Given the description of an element on the screen output the (x, y) to click on. 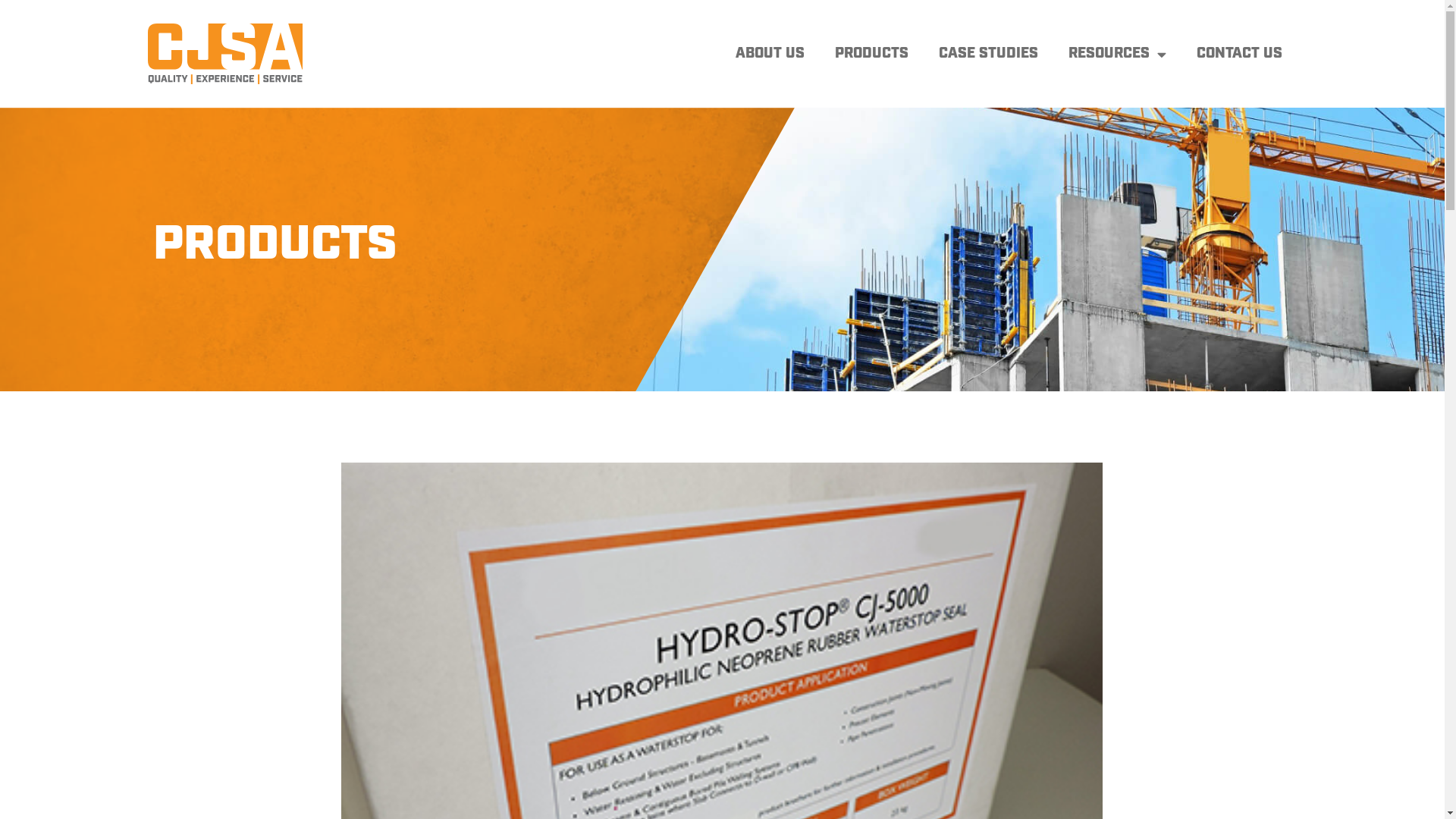
PRODUCTS Element type: text (870, 53)
ABOUT US Element type: text (769, 53)
RESOURCES Element type: text (1116, 53)
CASE STUDIES Element type: text (988, 53)
CONTACT US Element type: text (1239, 53)
